Given the description of an element on the screen output the (x, y) to click on. 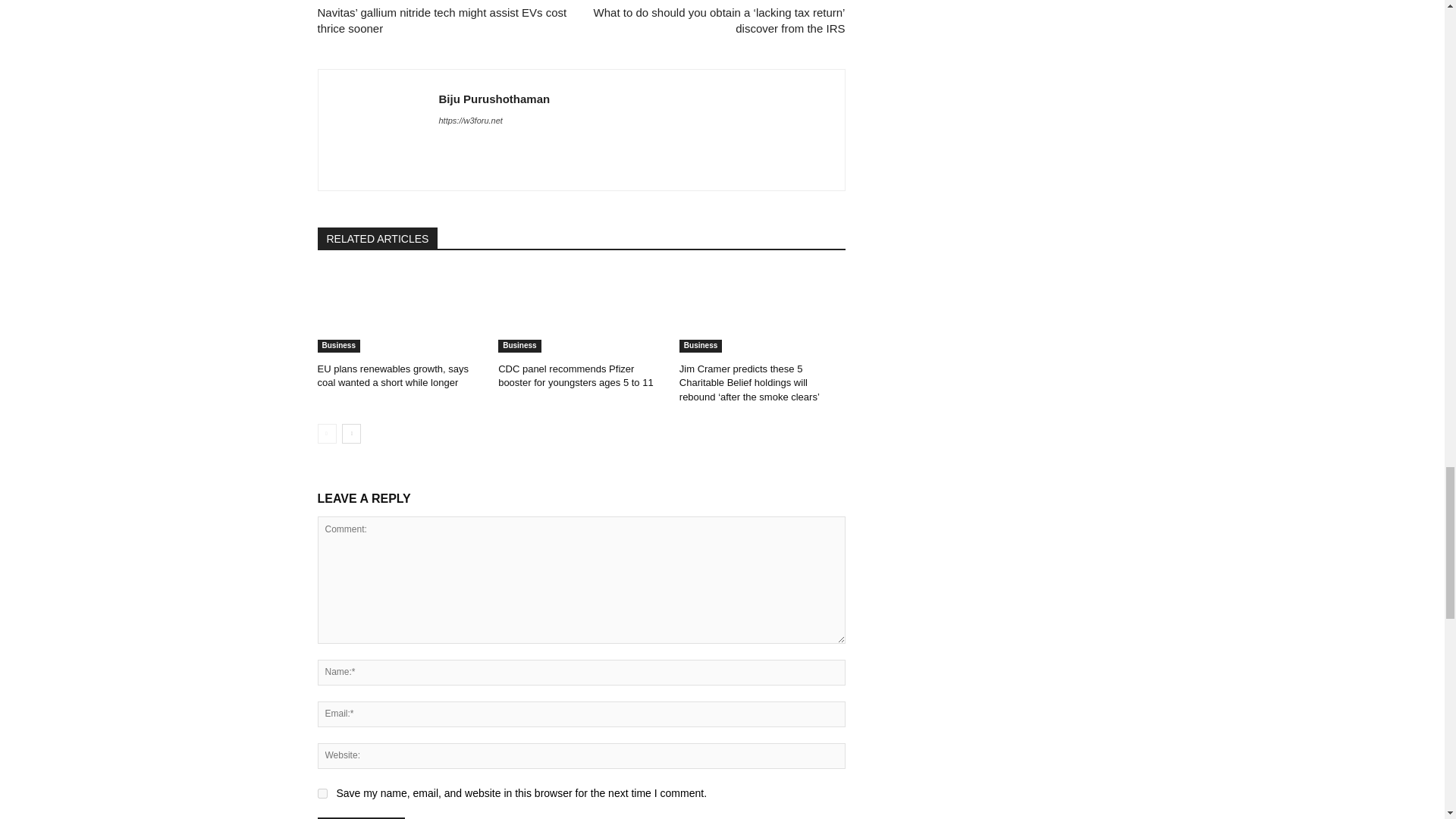
Post Comment (360, 818)
yes (321, 793)
